Given the description of an element on the screen output the (x, y) to click on. 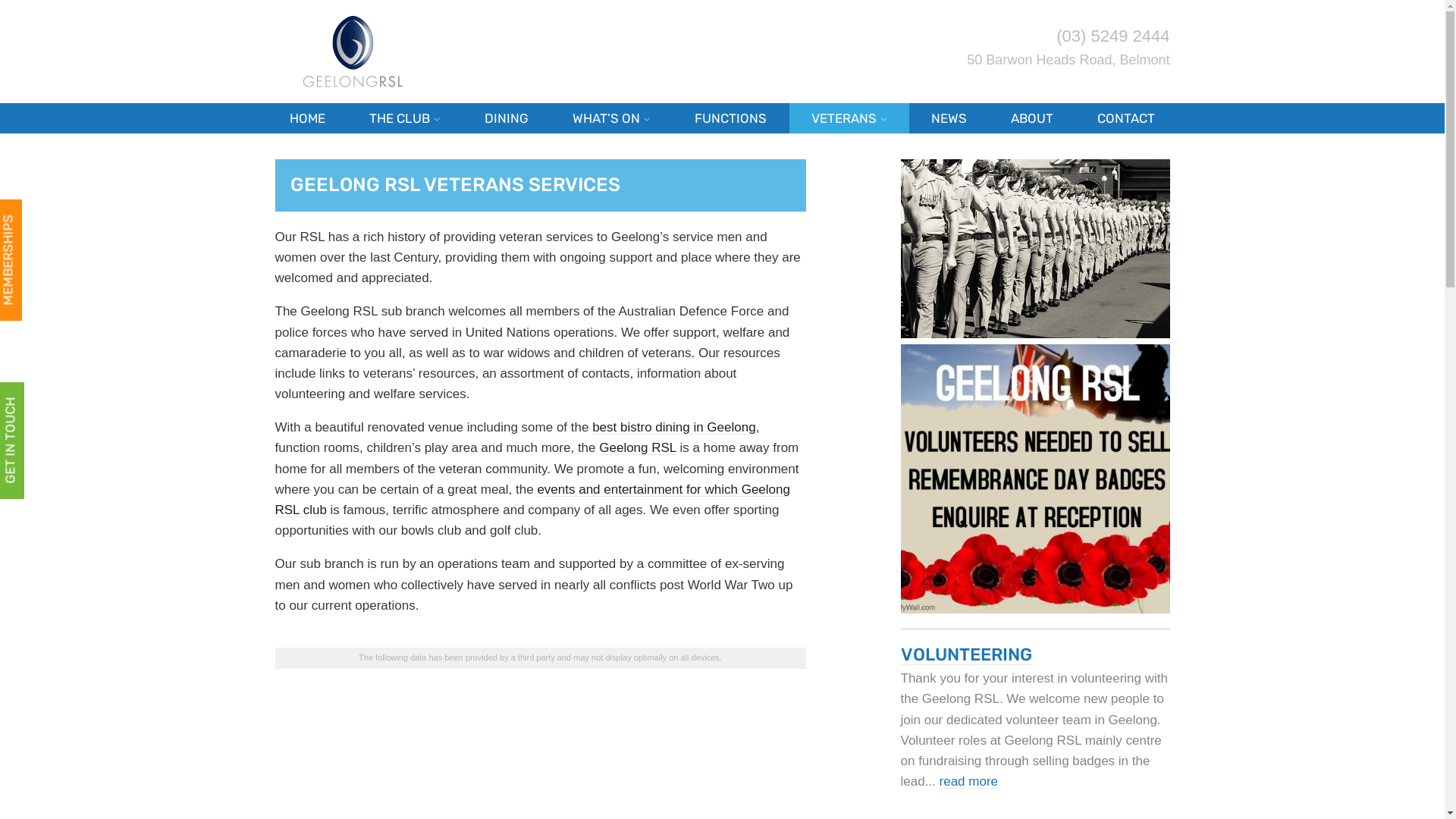
FUNCTIONS Element type: text (730, 118)
VOLUNTEERING Element type: text (966, 654)
DINING Element type: text (506, 118)
best bistro dining in Geelong Element type: text (673, 427)
NEWS Element type: text (948, 118)
CONTACT Element type: text (1125, 118)
Geelong RSL Element type: text (637, 447)
THE CLUB Element type: text (404, 118)
HOME Element type: text (306, 118)
read more Element type: text (968, 781)
VETERANS Element type: text (849, 118)
events and entertainment for which Geelong RSL club Element type: text (531, 499)
ABOUT Element type: text (1031, 118)
